Given the description of an element on the screen output the (x, y) to click on. 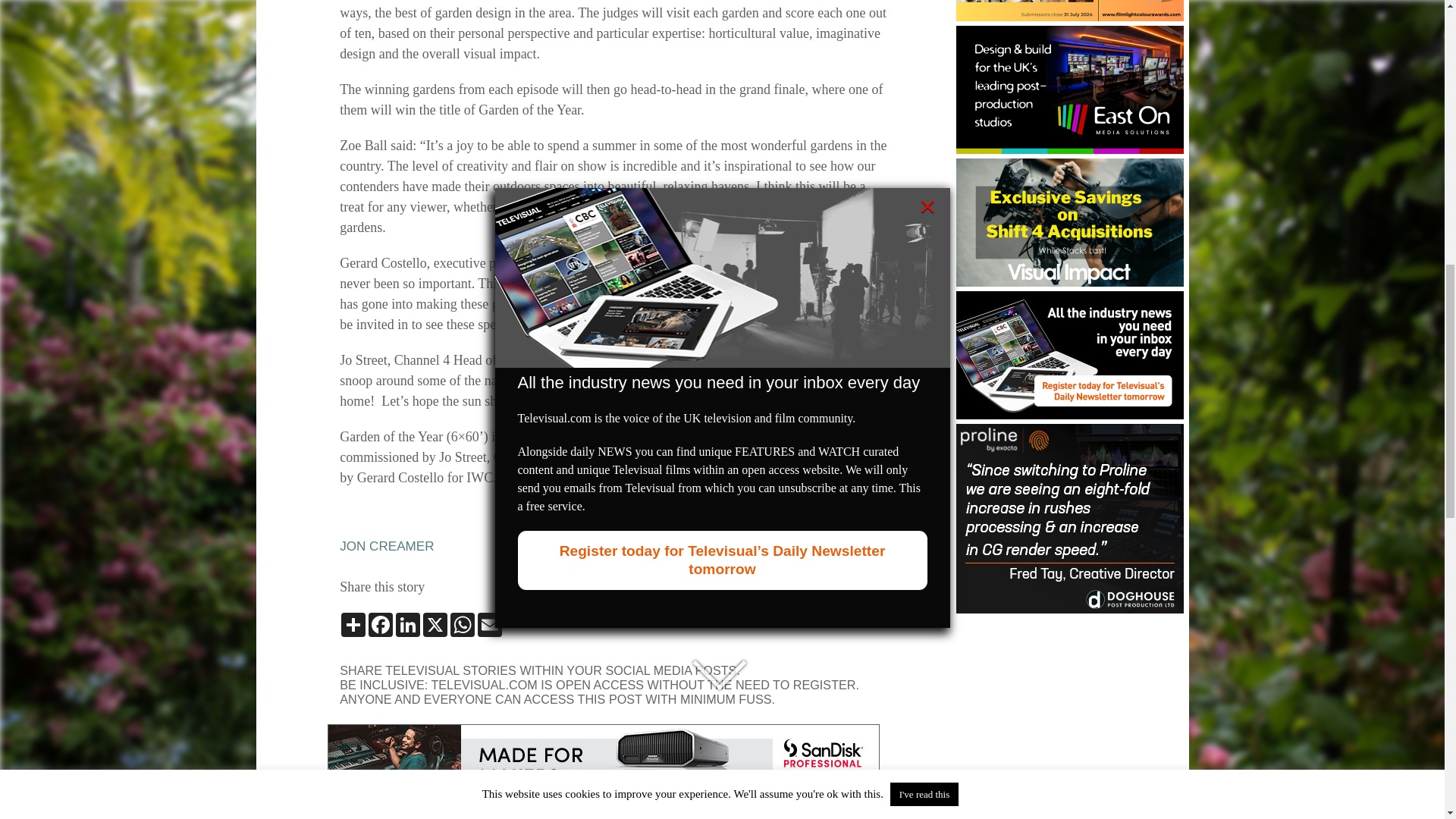
JON CREAMER (386, 545)
X (435, 624)
Facebook (380, 624)
WhatsApp (462, 624)
LinkedIn (408, 624)
Email (489, 624)
